Given the description of an element on the screen output the (x, y) to click on. 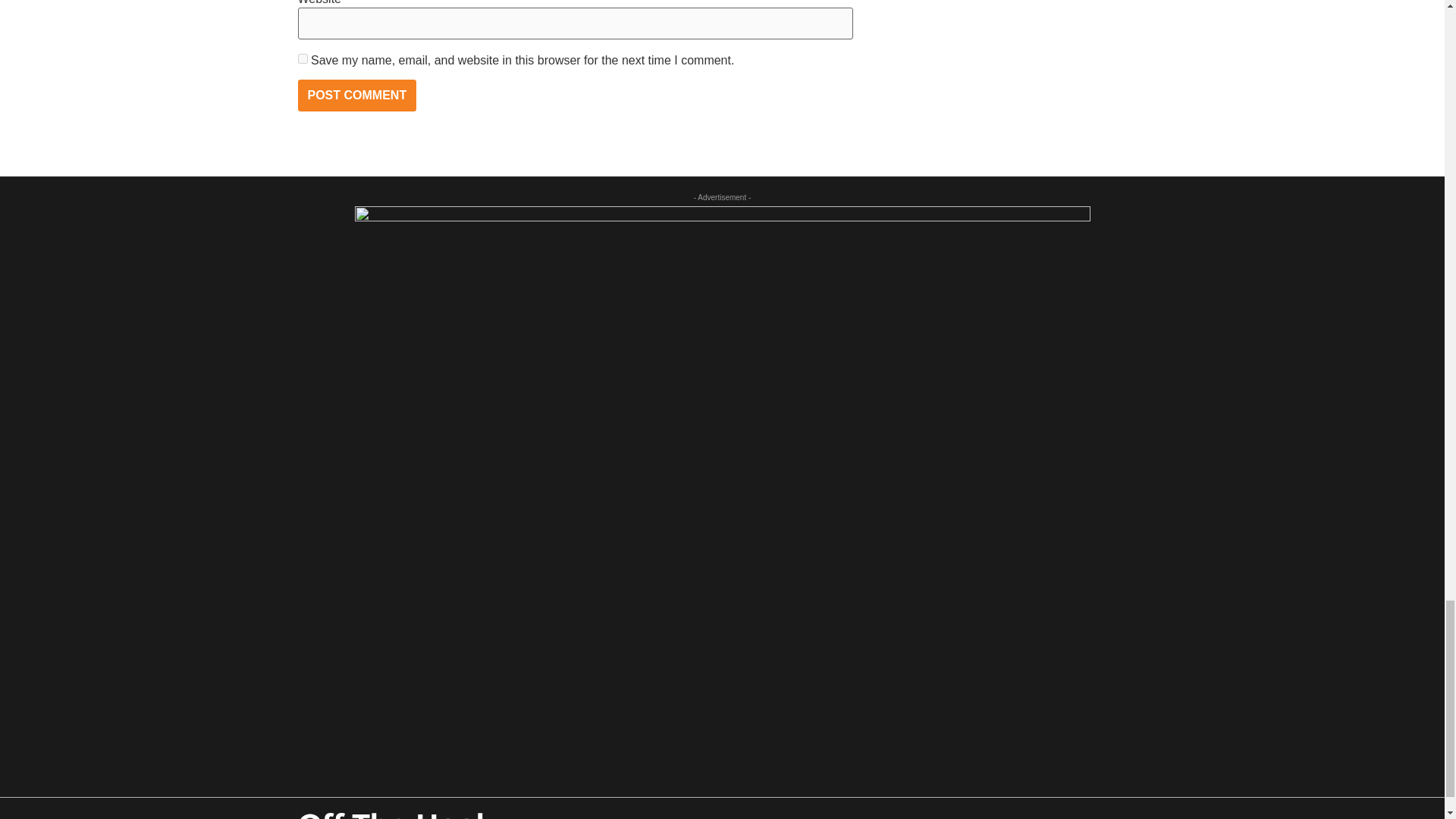
yes (302, 58)
Post Comment (356, 95)
